Given the description of an element on the screen output the (x, y) to click on. 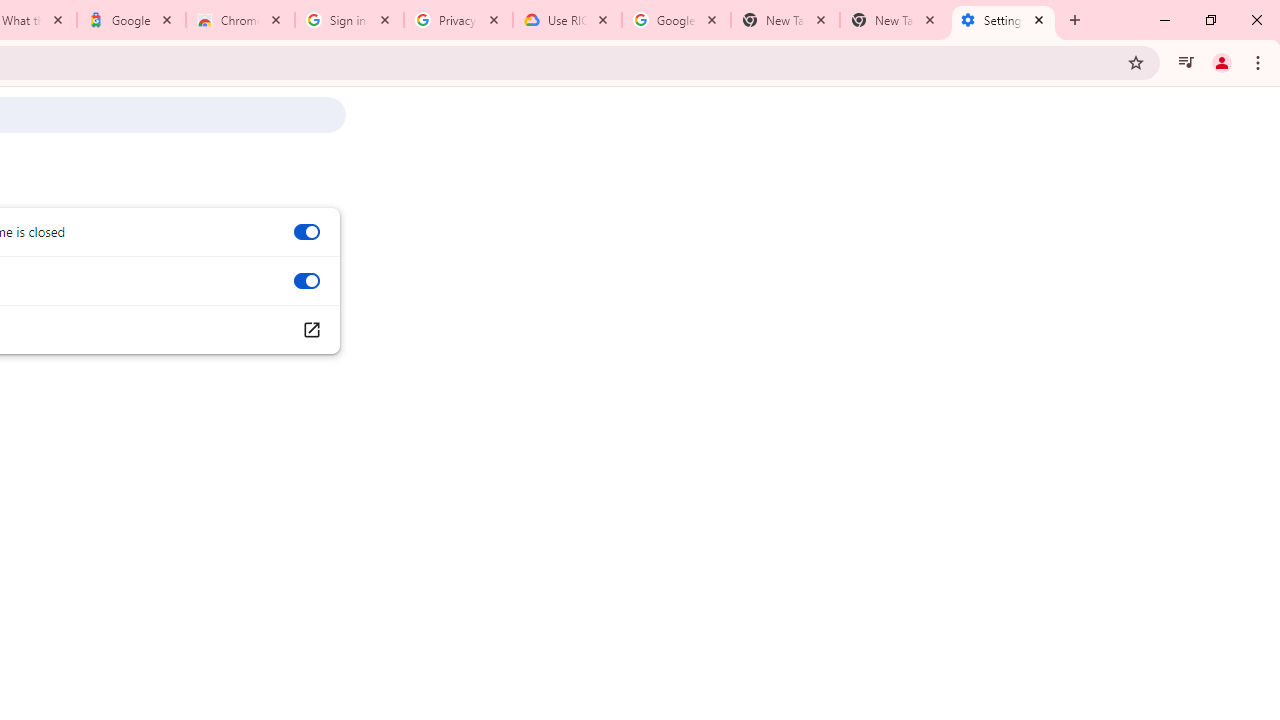
Use graphics acceleration when available (306, 281)
Sign in - Google Accounts (349, 20)
Settings - System (1003, 20)
Open your computer's proxy settings (310, 330)
New Tab (893, 20)
